Given the description of an element on the screen output the (x, y) to click on. 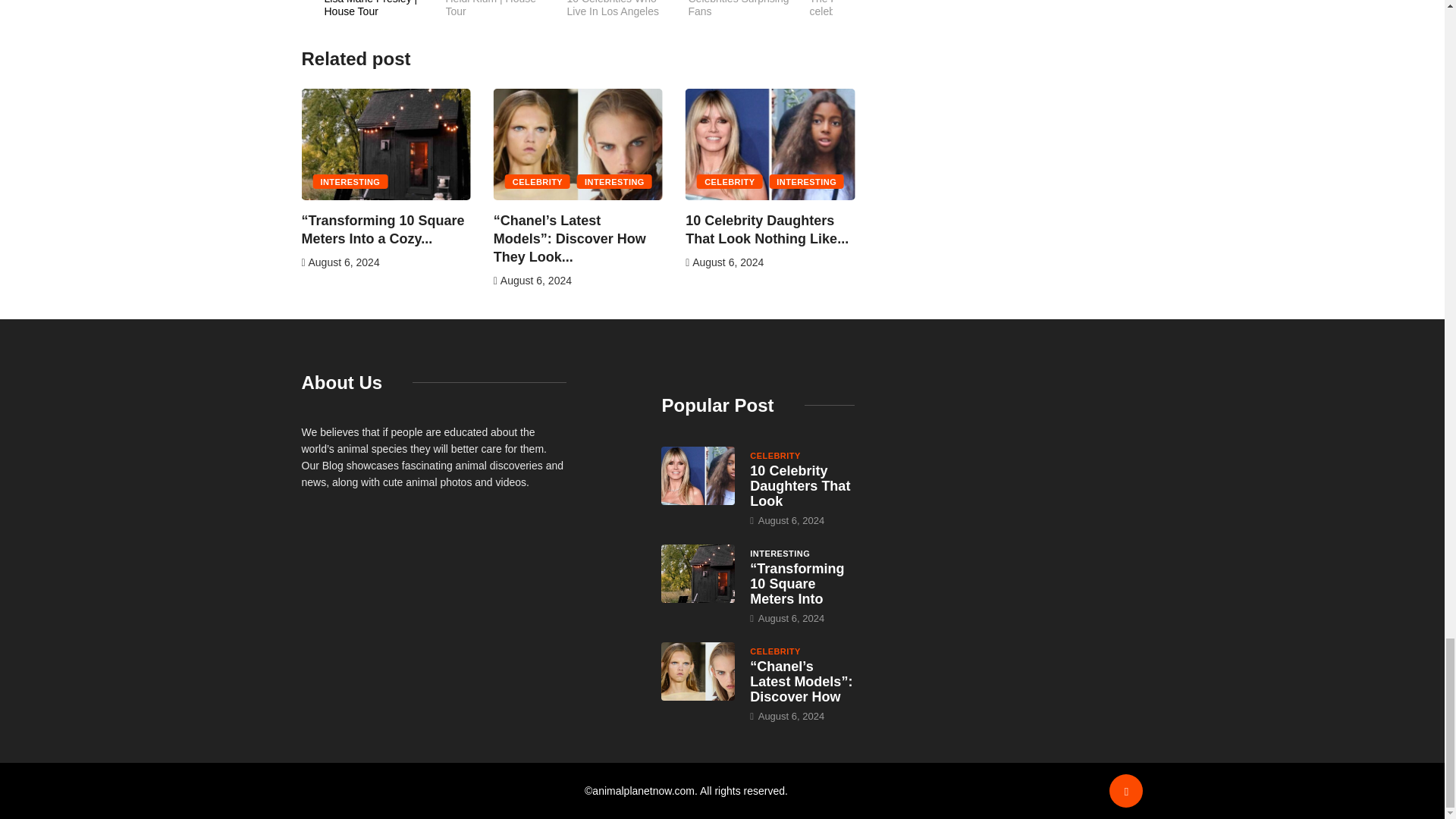
The best photos of celebrities (627, 16)
